Given the description of an element on the screen output the (x, y) to click on. 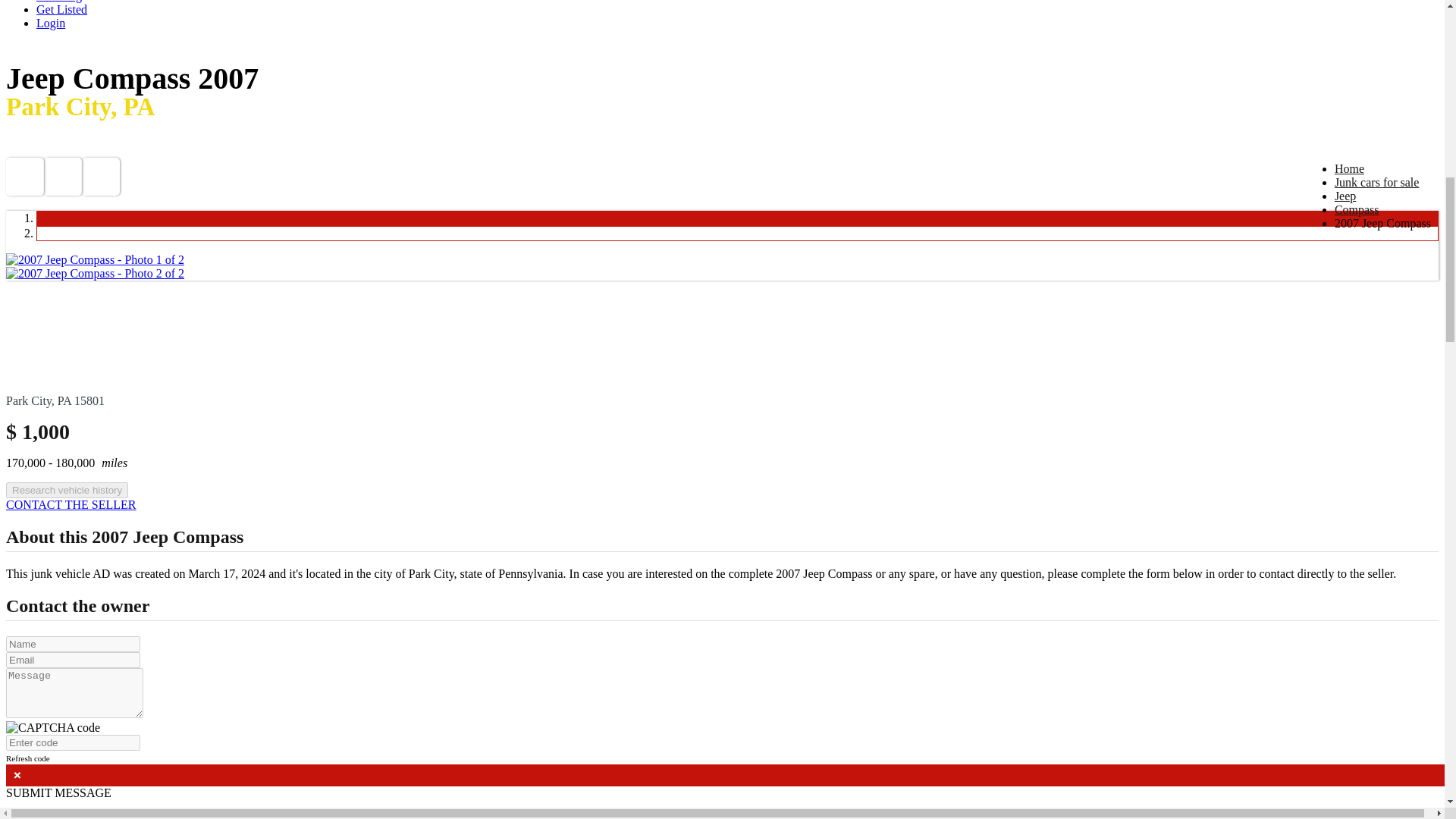
Share on Facebook (24, 176)
2007 Jeep Compass - Photo 1 of 2 (94, 259)
Share on Twitter (62, 176)
2007 Jeep Compass - Photo 2 of 2 (94, 273)
